Given the description of an element on the screen output the (x, y) to click on. 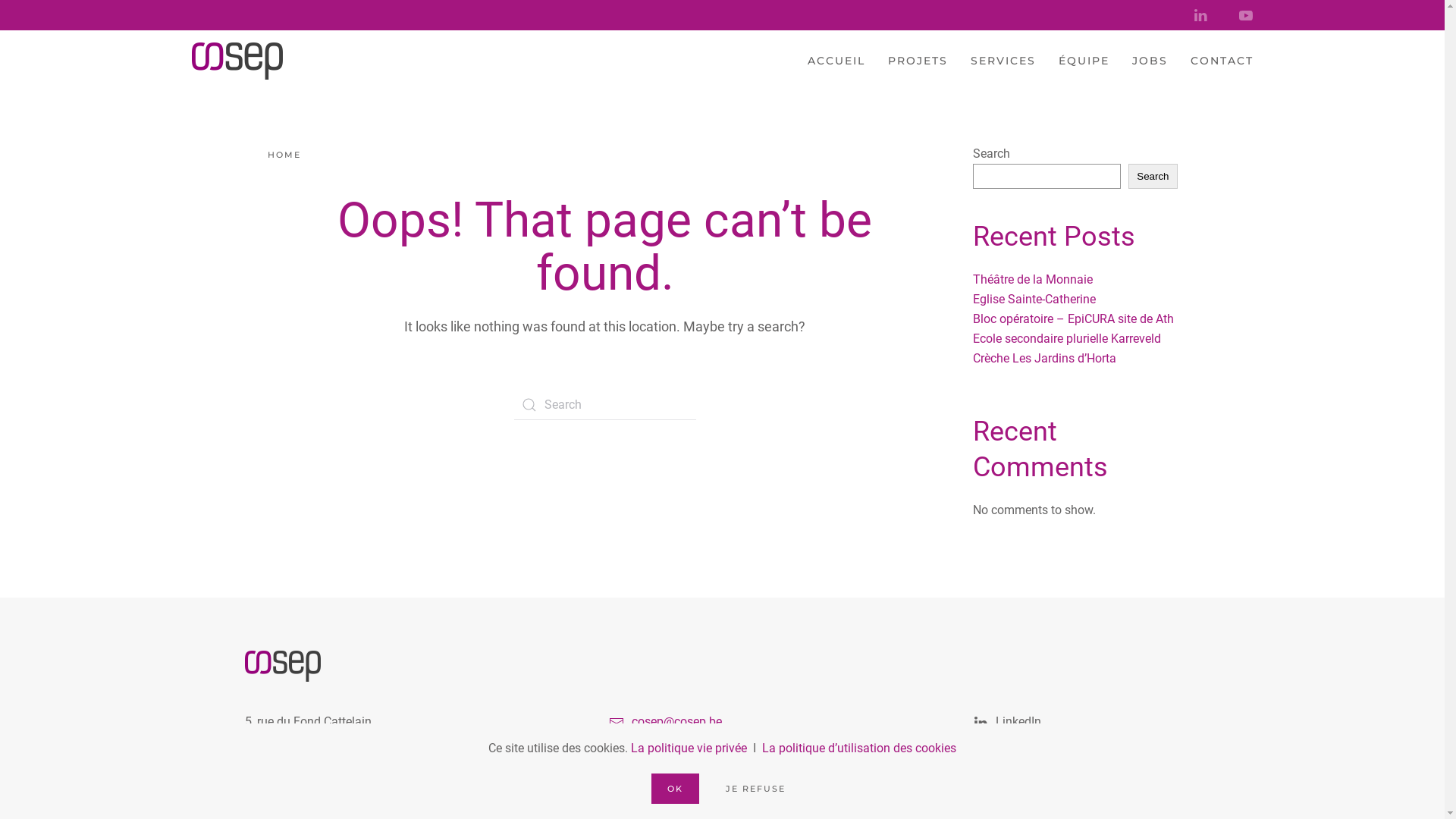
Search Element type: text (1152, 175)
JE REFUSE Element type: text (755, 788)
OK Element type: text (674, 788)
YouTube Element type: text (1085, 749)
ACCUEIL Element type: text (835, 60)
Eglise Sainte-Catherine Element type: text (1033, 298)
JOBS Element type: text (1149, 60)
Ecole secondaire plurielle Karreveld Element type: text (1066, 338)
LinkedIn Element type: text (1085, 721)
SERVICES Element type: text (1002, 60)
+32 (0)10.81.37.50 Element type: text (681, 748)
PROJETS Element type: text (917, 60)
CONTACT Element type: text (1221, 60)
cosep@cosep.be Element type: text (675, 721)
